Given the description of an element on the screen output the (x, y) to click on. 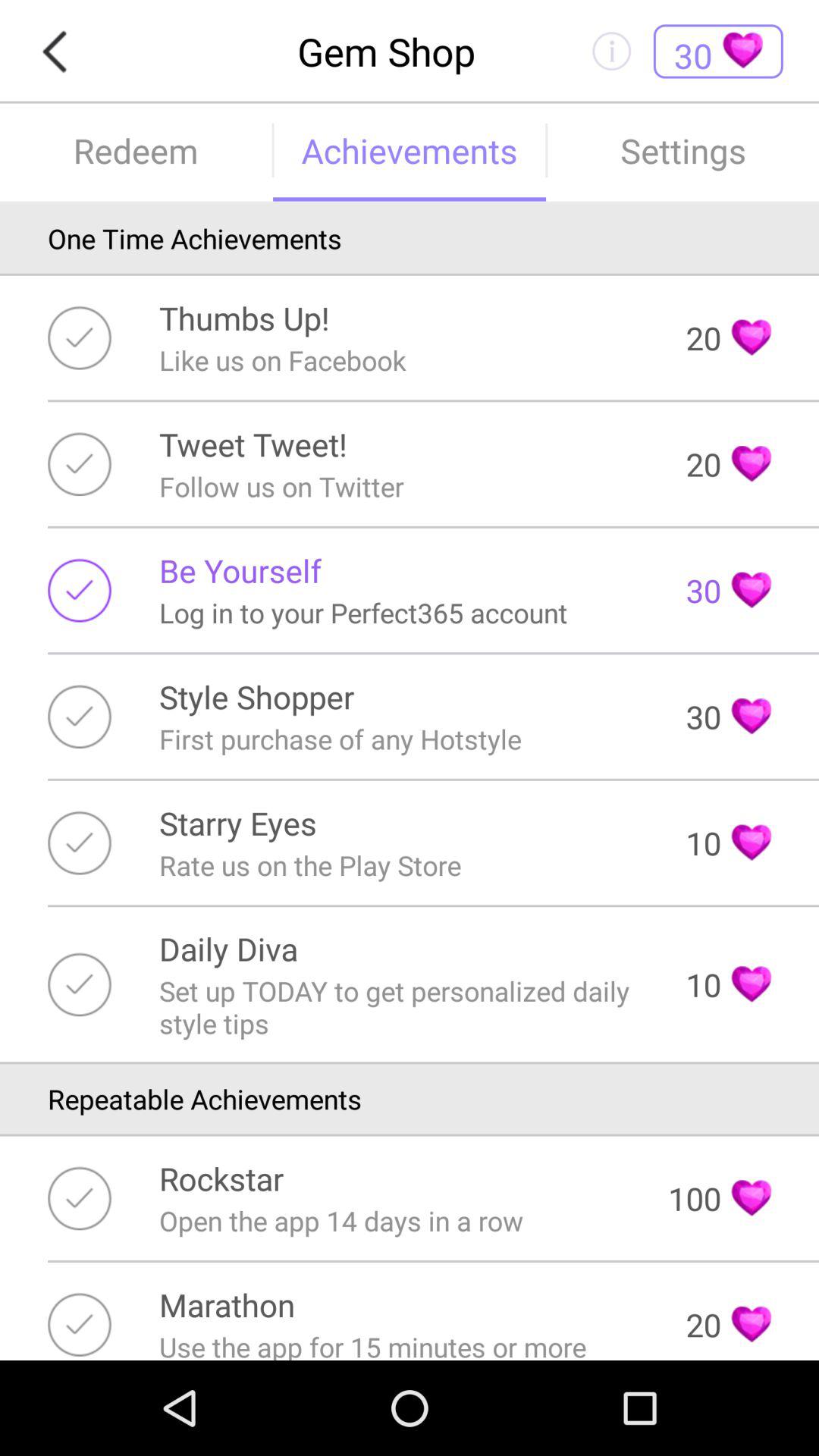
open the item next to the gem shop item (59, 51)
